Given the description of an element on the screen output the (x, y) to click on. 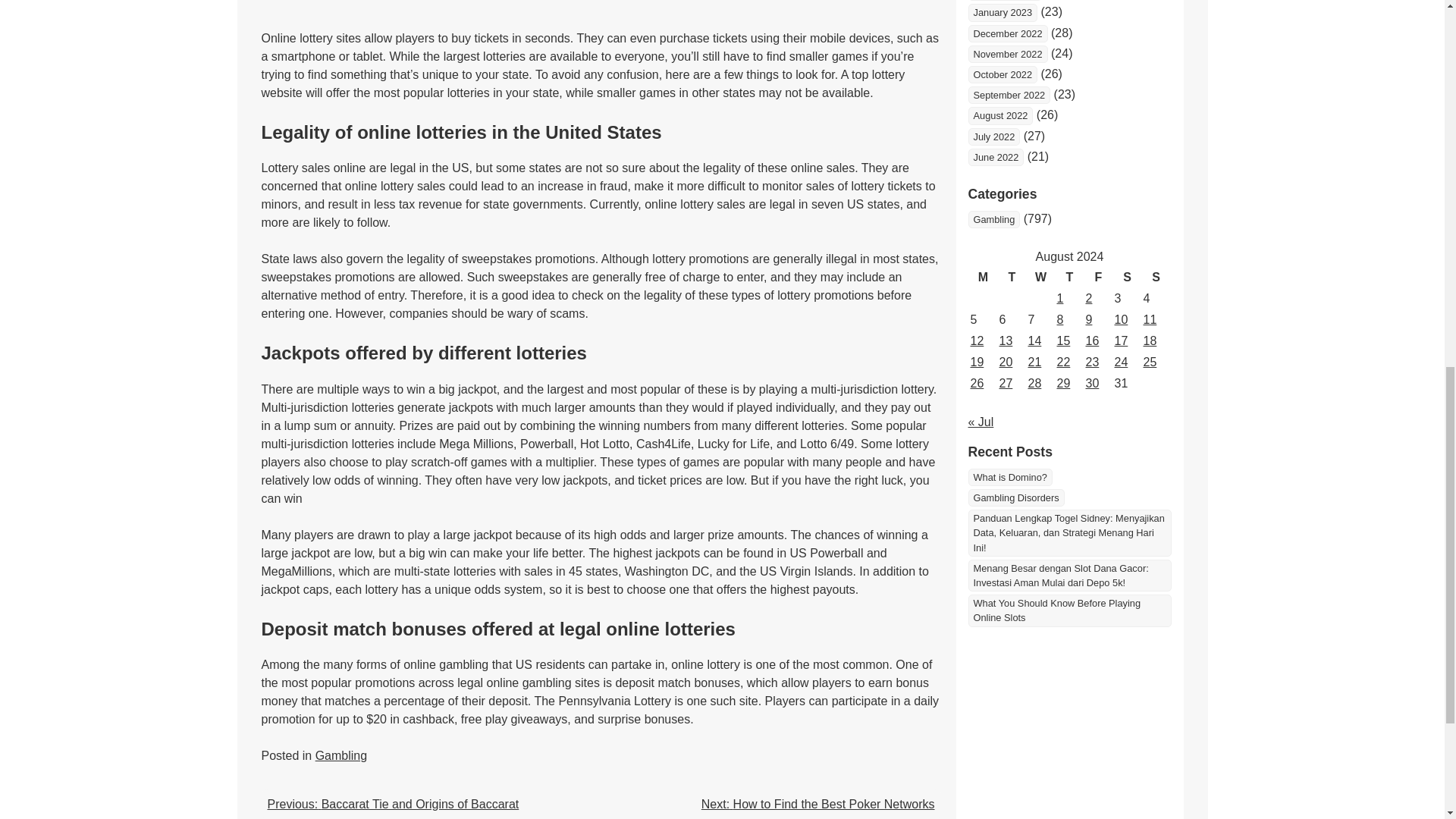
December 2022 (1007, 33)
Gambling (340, 755)
Sunday (1155, 277)
June 2022 (995, 157)
July 2022 (994, 136)
September 2022 (1008, 95)
November 2022 (1007, 54)
Wednesday (1040, 277)
August 2022 (1000, 115)
Monday (982, 277)
